Given the description of an element on the screen output the (x, y) to click on. 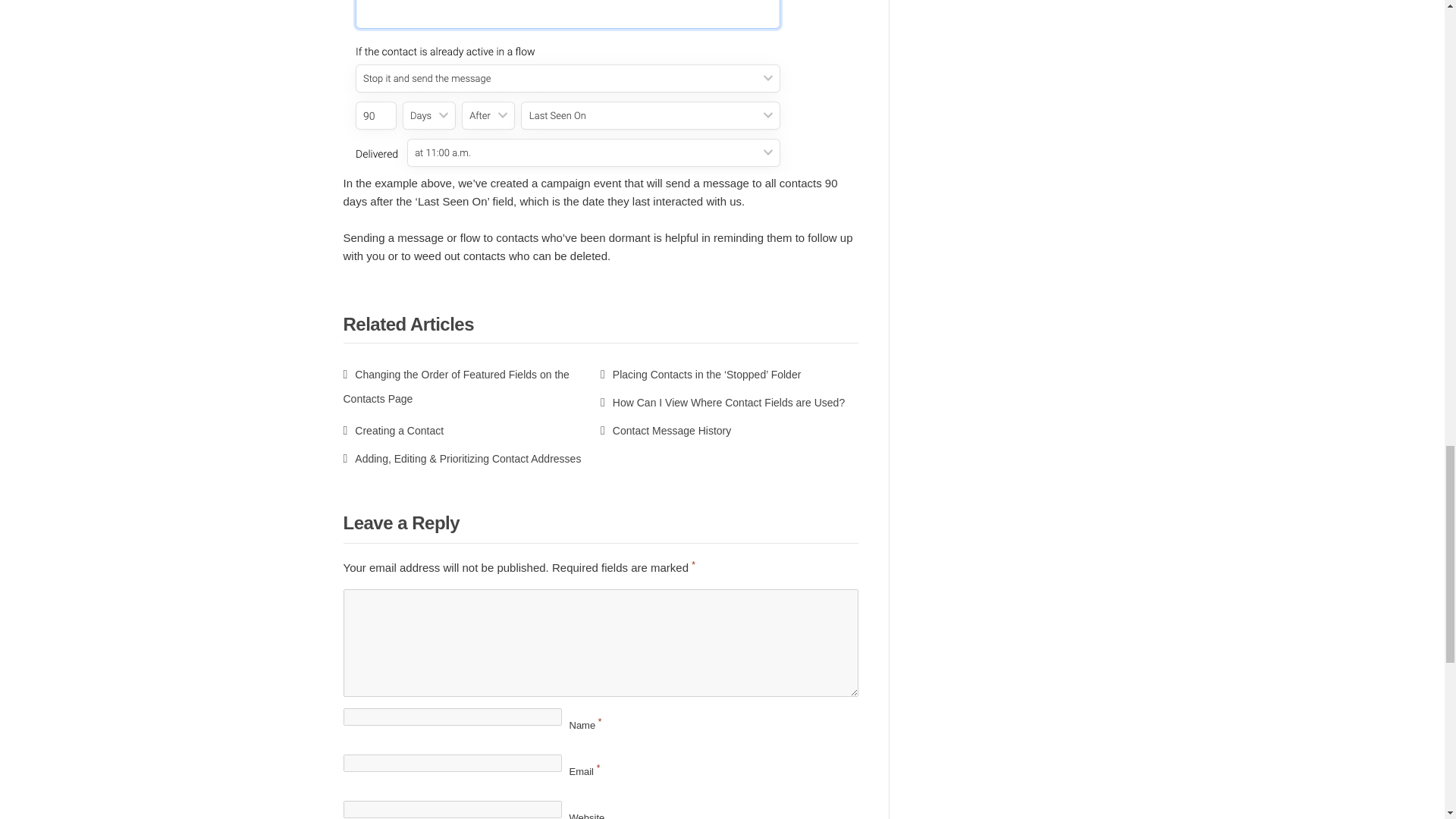
Changing the Order of Featured Fields on the Contacts Page (455, 386)
How Can I View Where Contact Fields are Used? (721, 402)
Contact Message History (664, 430)
Creating a Contact (393, 430)
Creating a Contact (393, 430)
Contact Message History (664, 430)
Changing the Order of Featured Fields on the Contacts Page (455, 386)
How Can I View Where Contact Fields are Used? (721, 402)
